Given the description of an element on the screen output the (x, y) to click on. 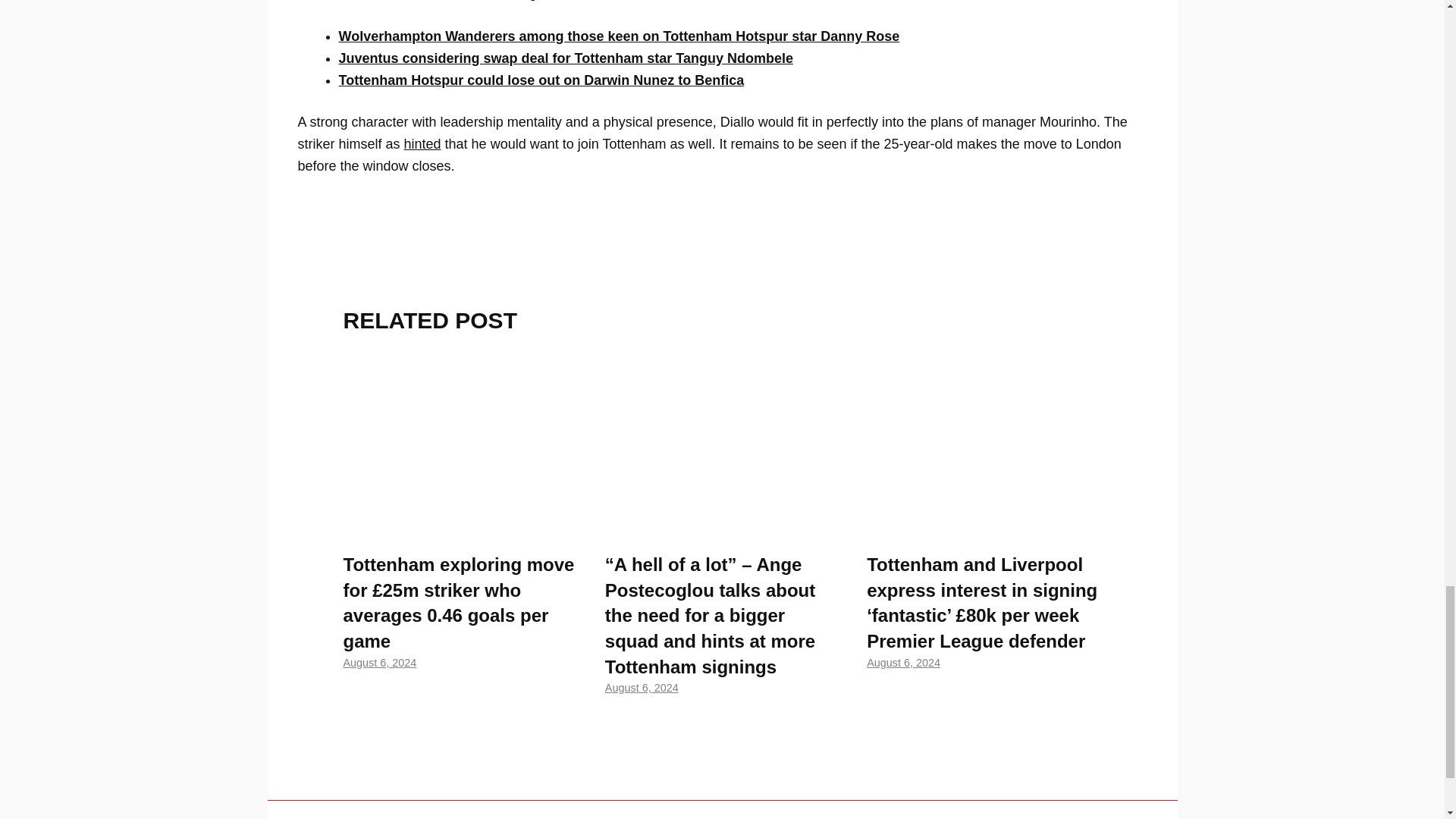
2:30 pm (379, 662)
12:30 pm (903, 662)
1:30 pm (641, 687)
